Given the description of an element on the screen output the (x, y) to click on. 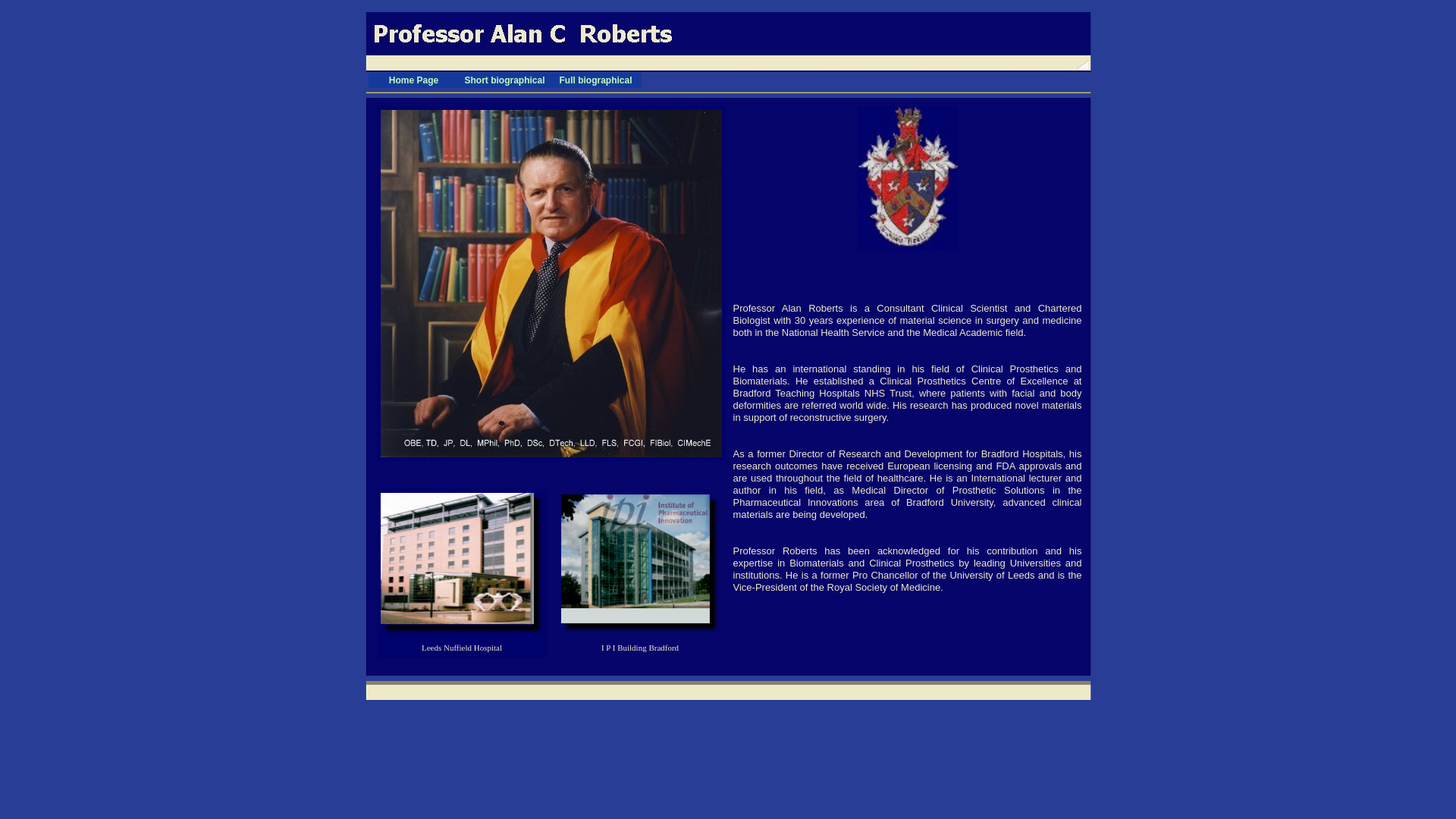
Full biographical Element type: text (595, 79)
Short biographical Element type: text (504, 79)
Home Page Element type: text (413, 79)
